Given the description of an element on the screen output the (x, y) to click on. 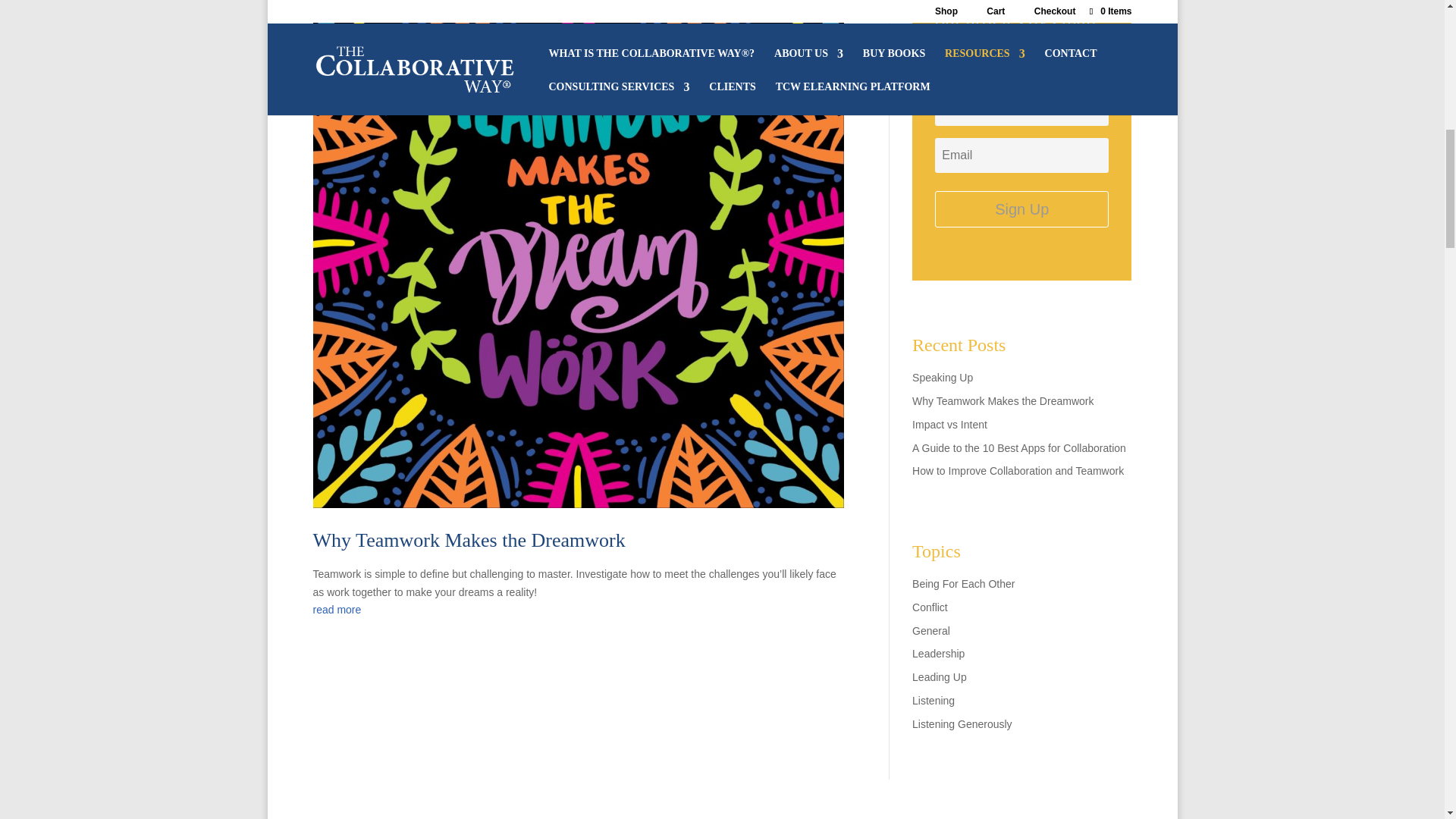
Sign Up (1021, 208)
